Given the description of an element on the screen output the (x, y) to click on. 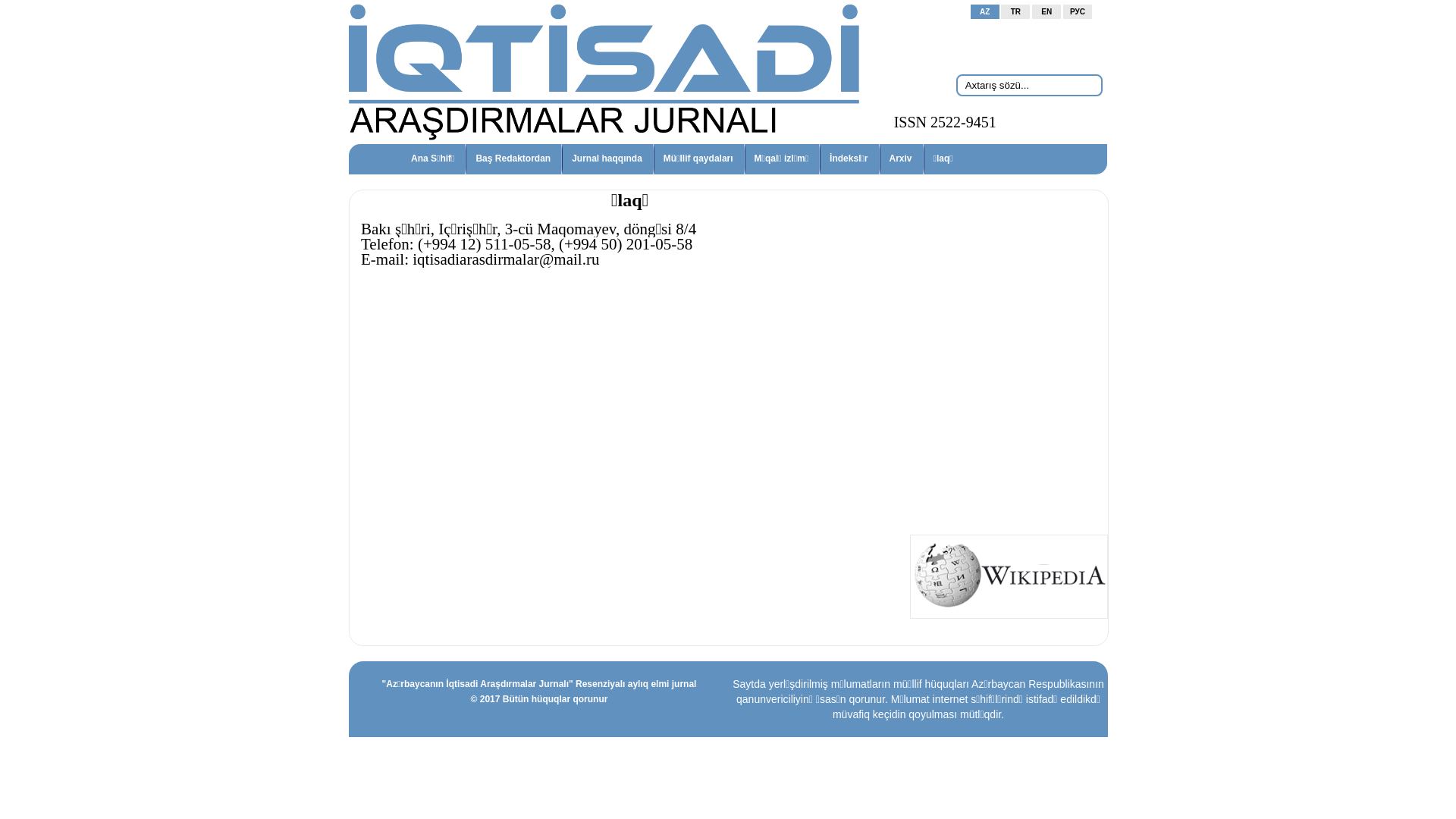
AZ Element type: text (984, 11)
EN Element type: text (1046, 11)
Arxiv Element type: text (900, 157)
TR Element type: text (1015, 11)
